Given the description of an element on the screen output the (x, y) to click on. 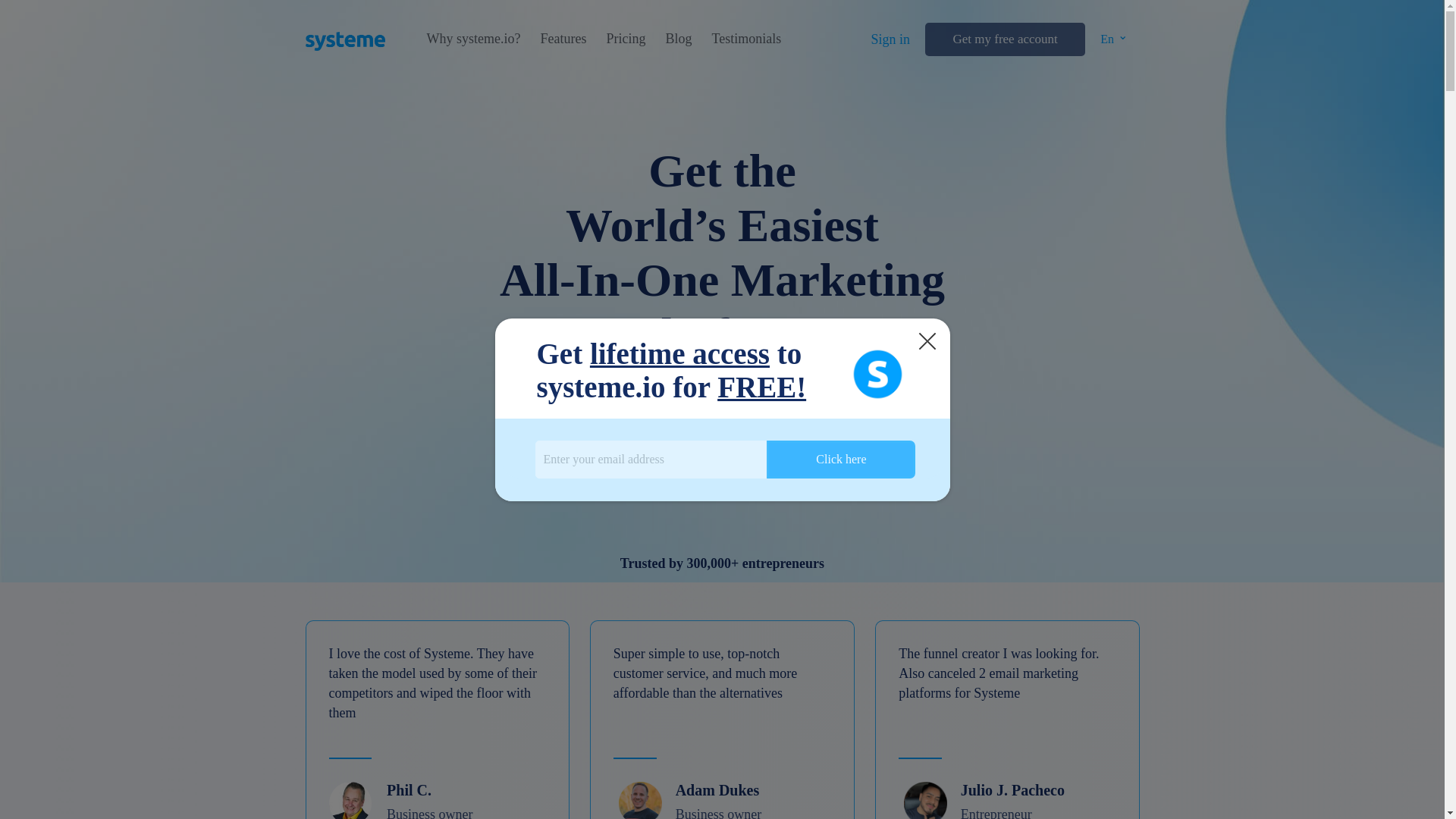
Get my free account (1004, 39)
Testimonials (745, 38)
Blog (678, 38)
Why systeme.io? (472, 38)
Features (563, 38)
Pricing (625, 38)
Sign in (890, 39)
